Given the description of an element on the screen output the (x, y) to click on. 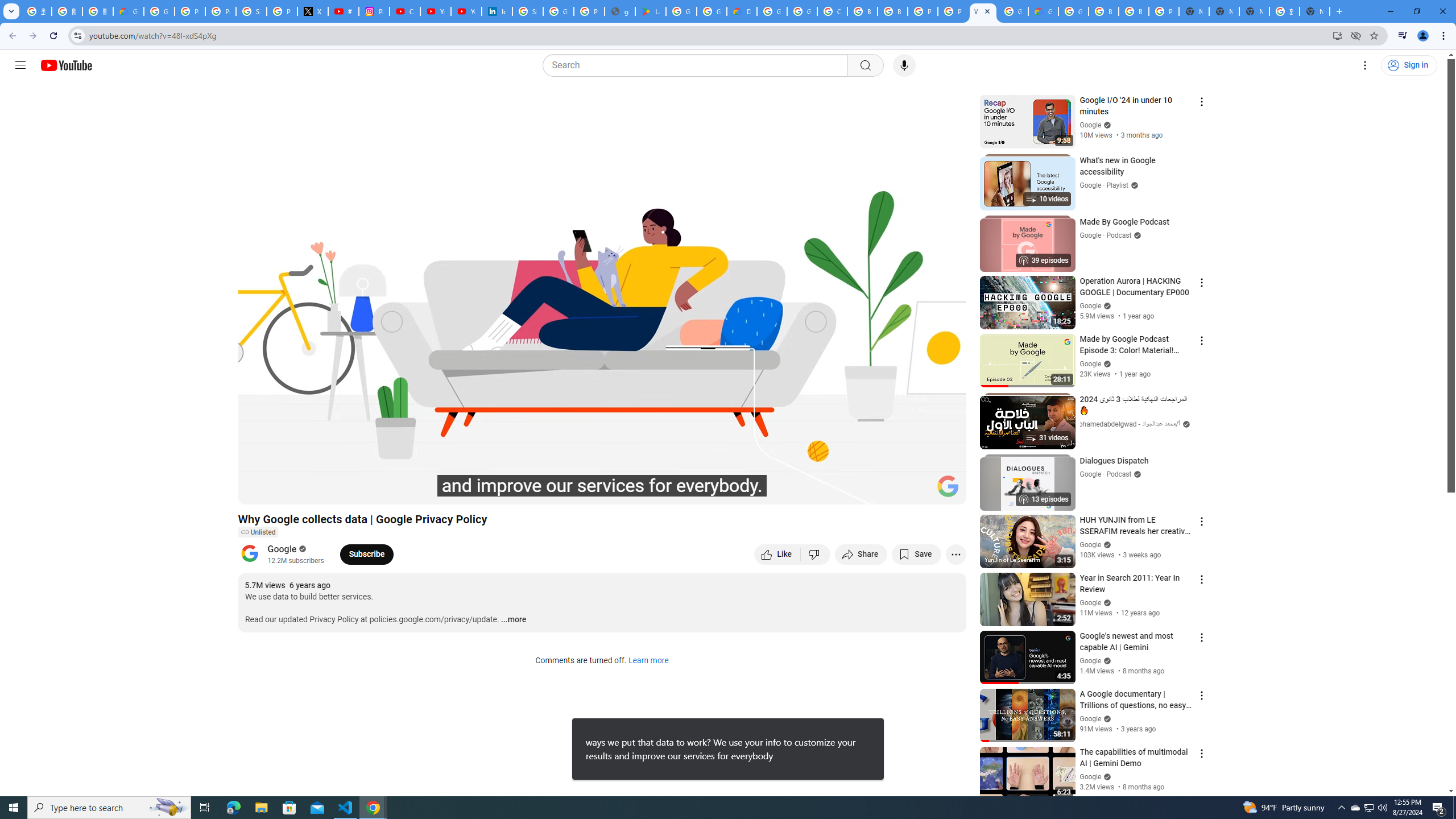
Theater mode (t) (917, 490)
Guide (20, 65)
YouTube Culture & Trends - YouTube Top 10, 2021 (465, 11)
X (312, 11)
Sign in - Google Accounts (527, 11)
Unlisted (257, 532)
YouTube Home (66, 65)
Action menu (1200, 753)
